Given the description of an element on the screen output the (x, y) to click on. 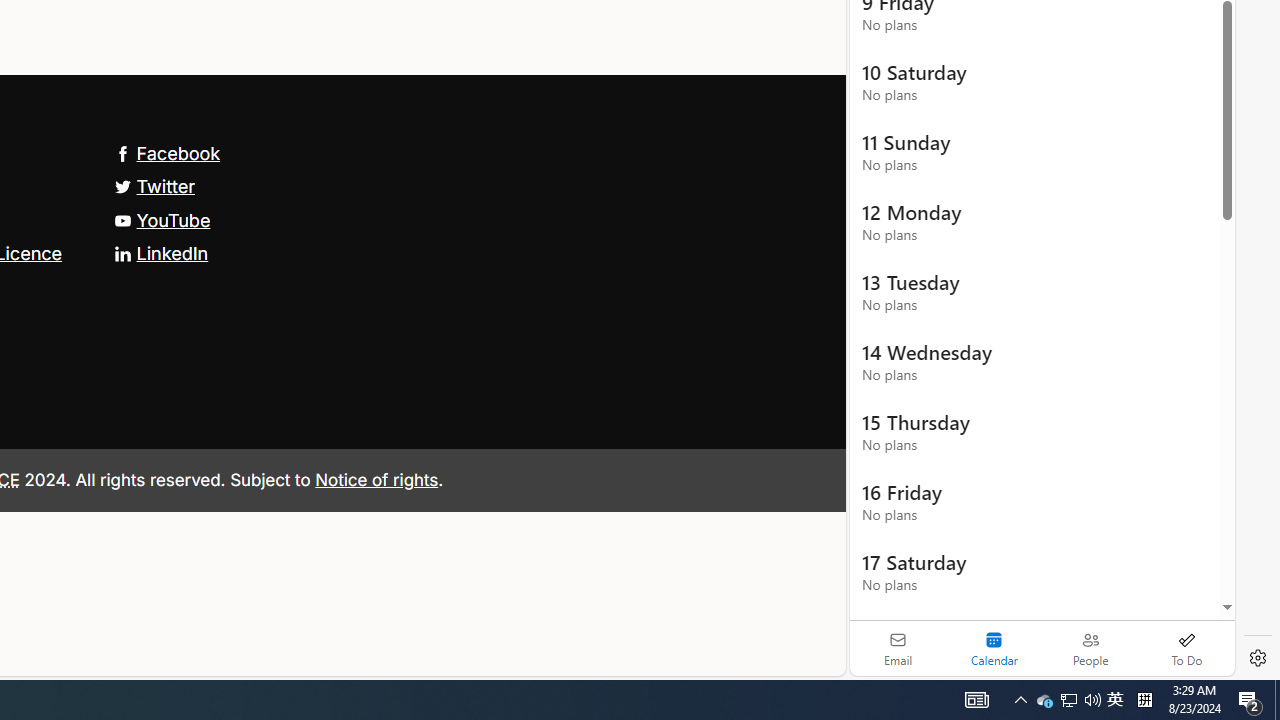
Selected calendar module. Date today is 22 (994, 648)
Twitter (154, 186)
Facebook (167, 152)
To Do (1186, 648)
YouTube (162, 219)
Notice of rights (376, 479)
People (1090, 648)
